Given the description of an element on the screen output the (x, y) to click on. 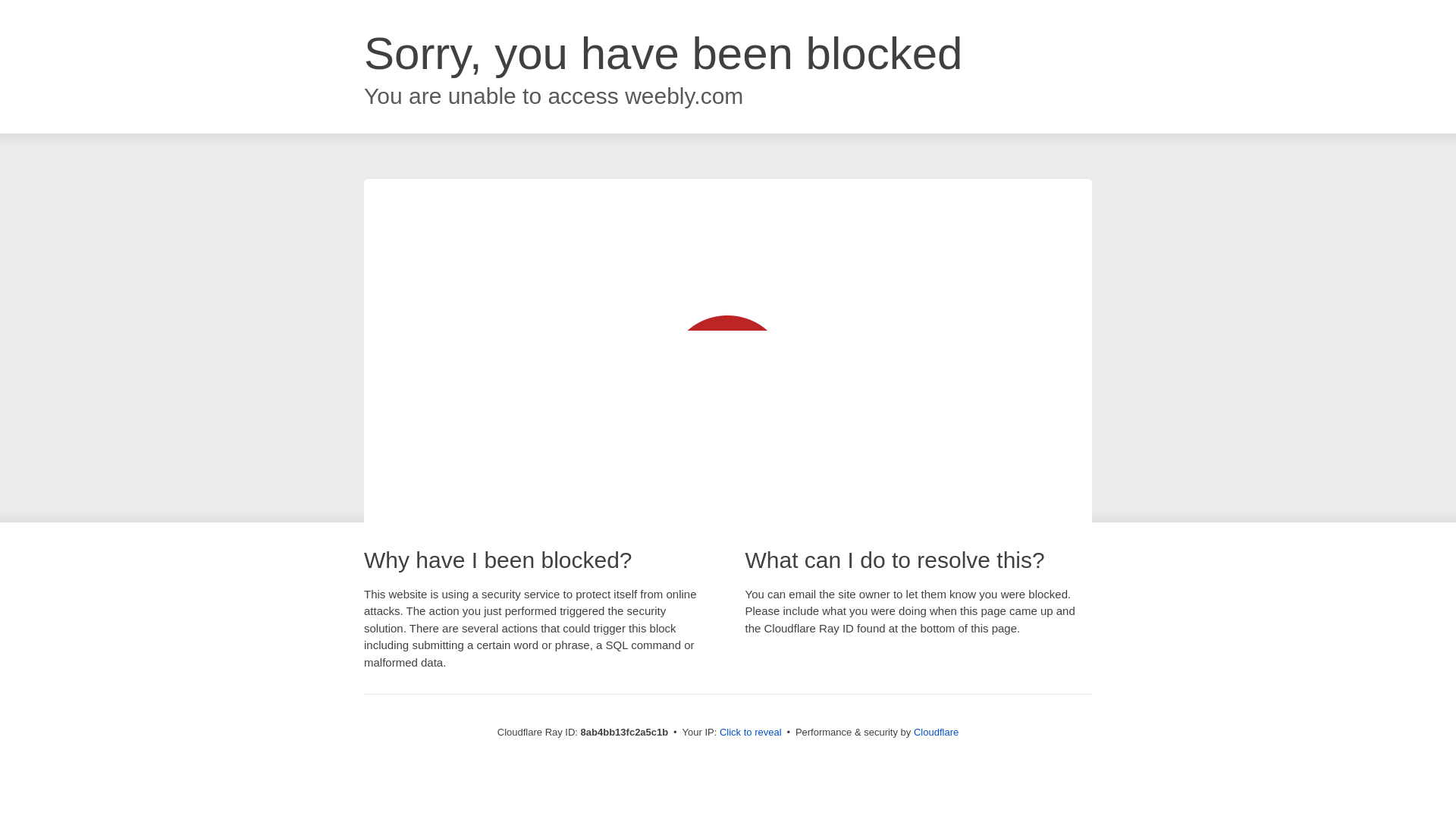
Click to reveal (750, 732)
Cloudflare (936, 731)
